Given the description of an element on the screen output the (x, y) to click on. 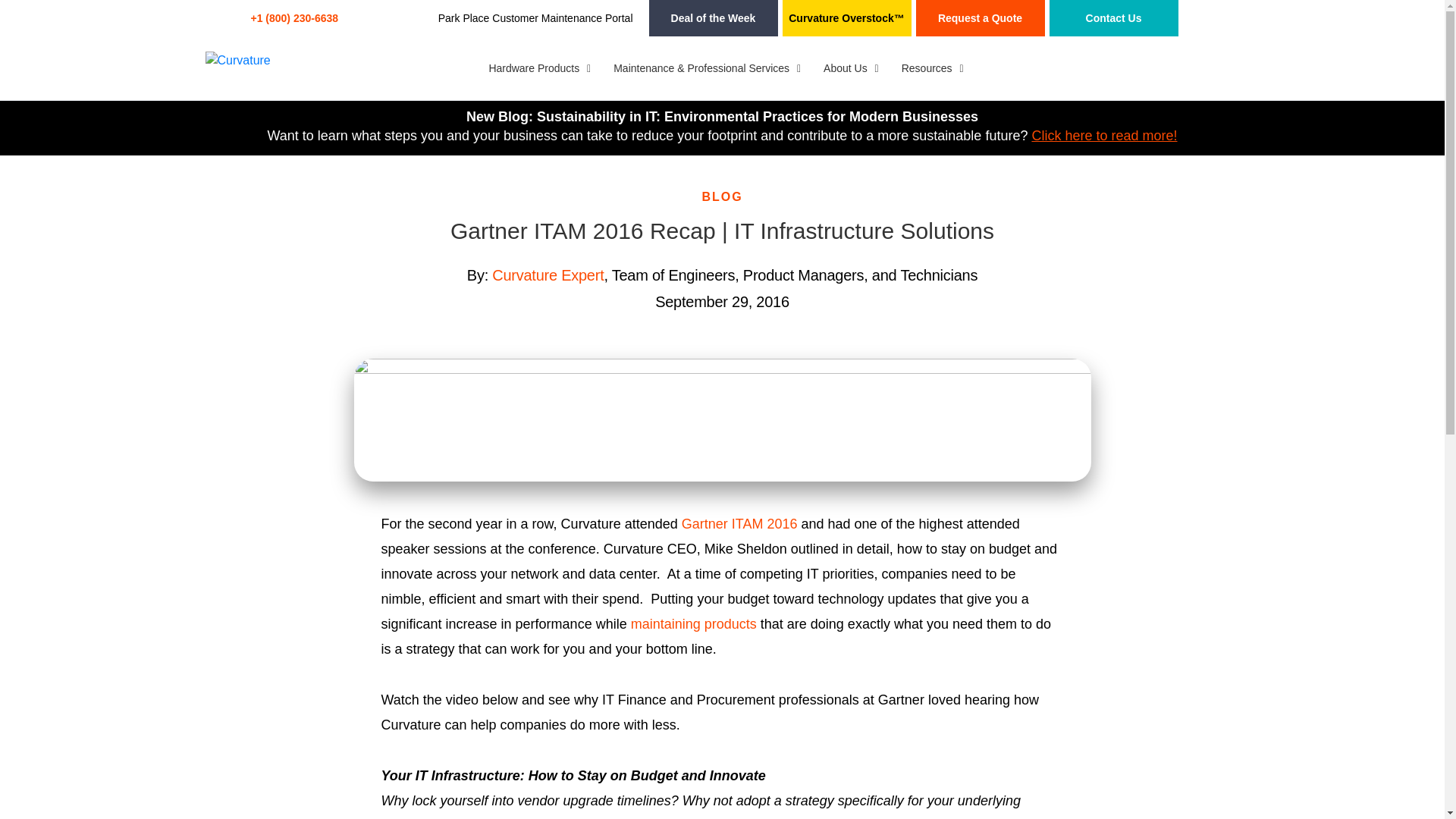
Park Place Customer Maintenance Portal (535, 18)
Deal of the Week (713, 18)
Contact Us (1113, 18)
Hardware Products (535, 67)
Park Place Customer Maintenance Portal (535, 18)
Request a Quote (980, 18)
Request a Quote (980, 18)
Contact Us (1113, 18)
Deal of the Week (713, 18)
